Given the description of an element on the screen output the (x, y) to click on. 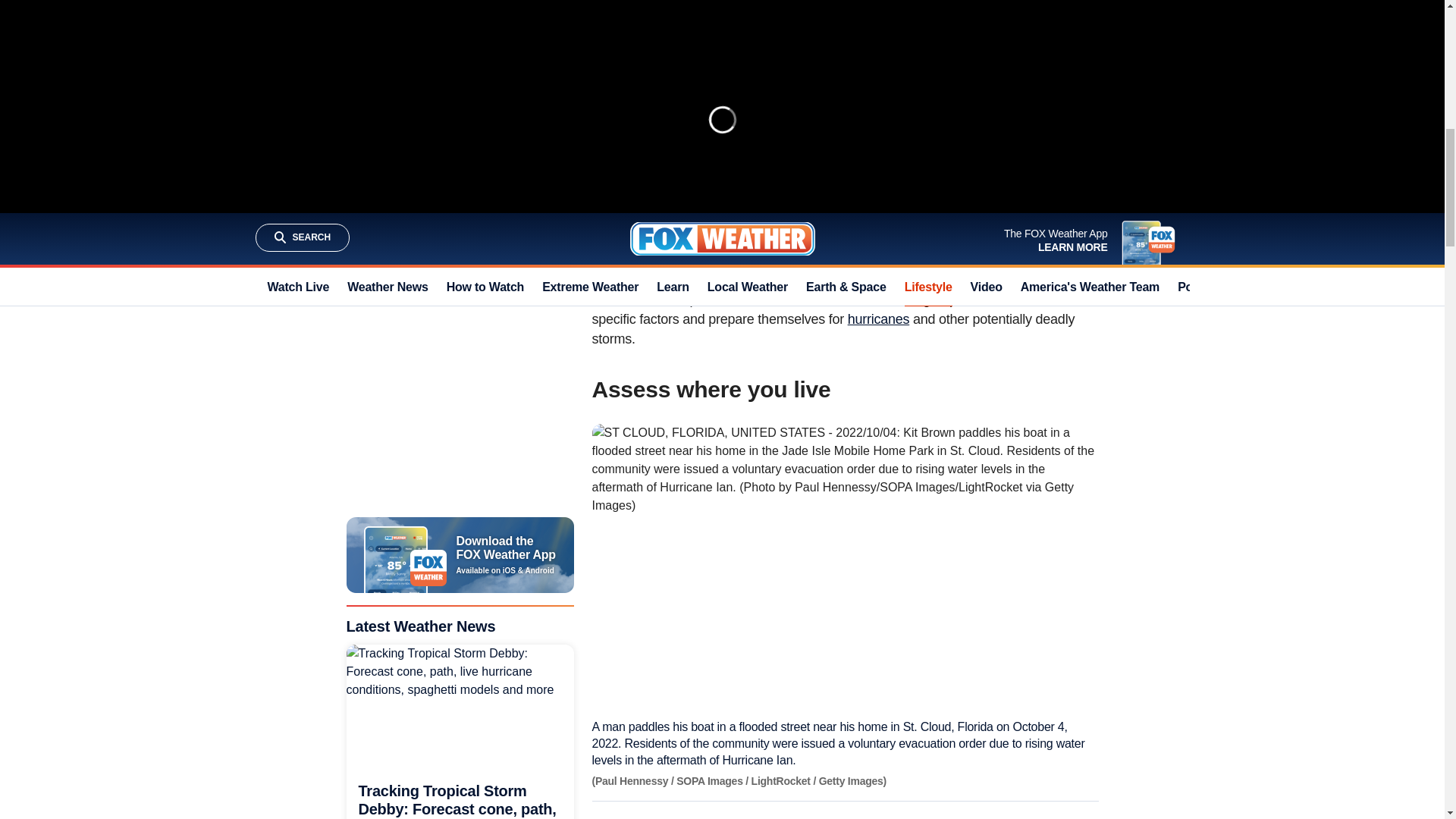
How to prepare your home for a hurricane or tornado (728, 47)
hurricanes (878, 319)
